Given the description of an element on the screen output the (x, y) to click on. 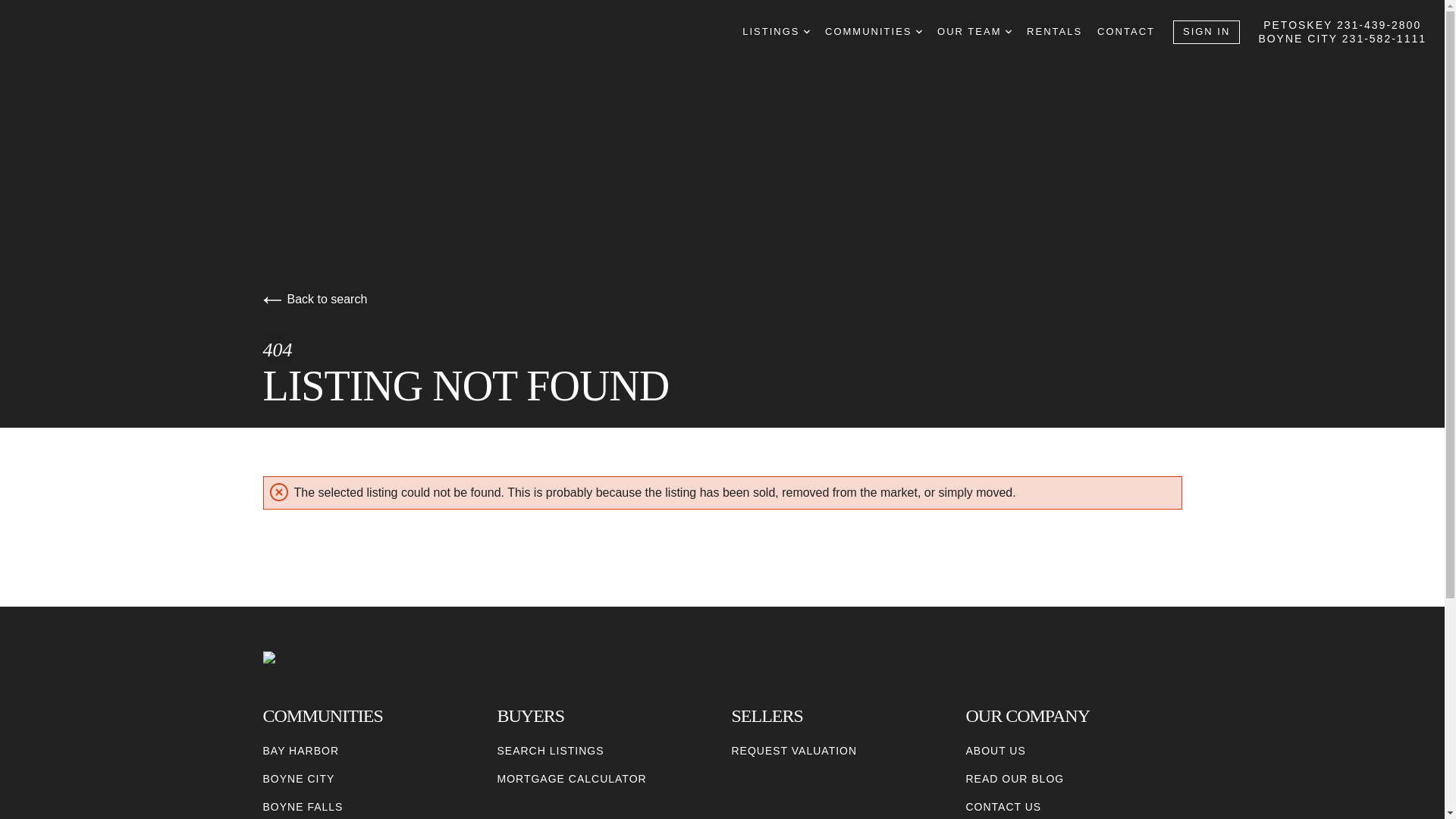
PETOSKEY 231-439-2800 (1341, 24)
SIGN IN (1206, 32)
RENTALS (1053, 32)
LISTINGS DROPDOWN ARROW (775, 32)
BOYNE CITY 231-582-1111 (1341, 38)
OUR TEAM DROPDOWN ARROW (974, 32)
CONTACT (1125, 32)
DROPDOWN ARROW (918, 31)
DROPDOWN ARROW (806, 31)
Back to search (314, 298)
